Given the description of an element on the screen output the (x, y) to click on. 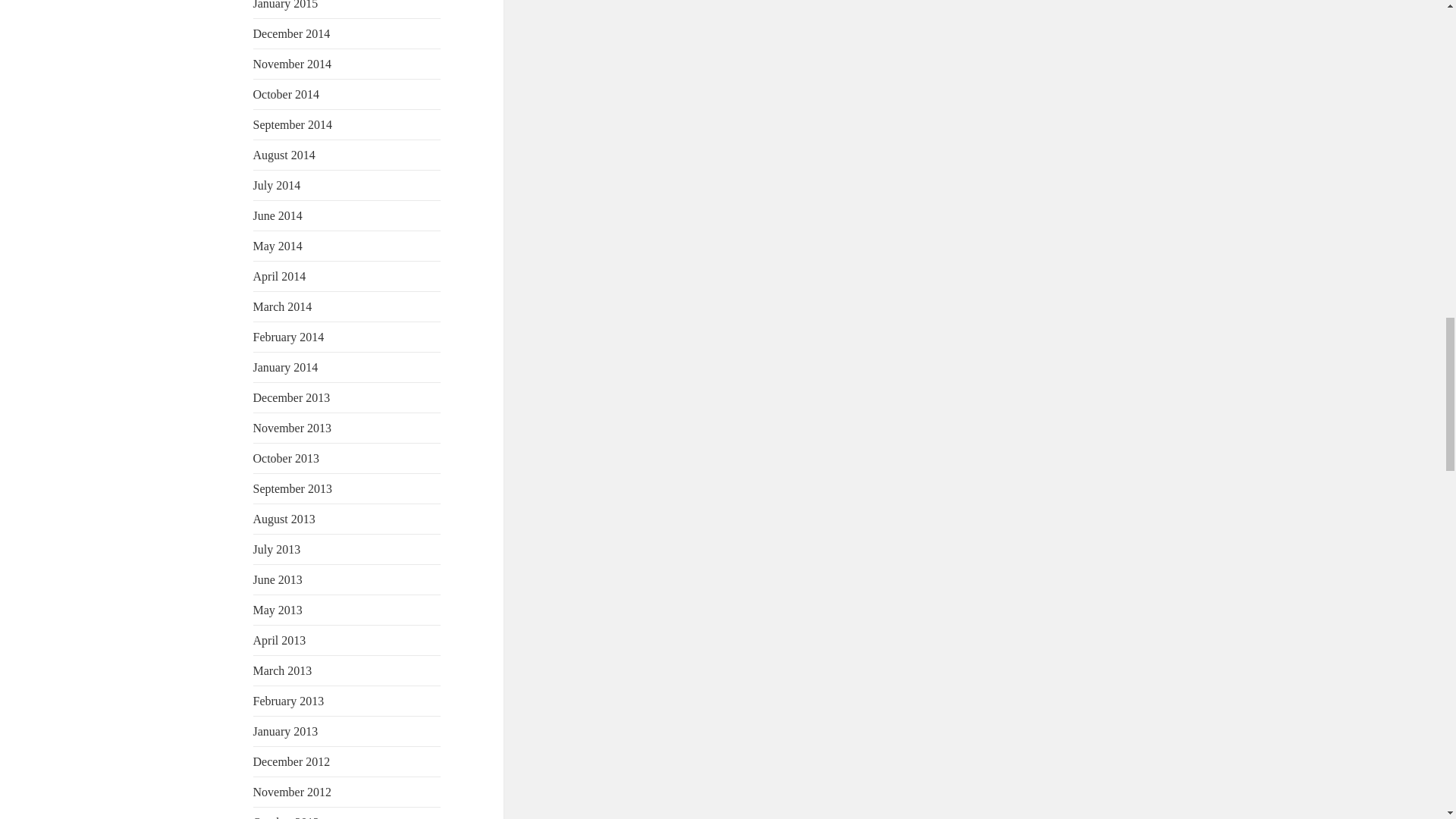
June 2014 (277, 215)
December 2014 (291, 33)
May 2014 (277, 245)
April 2014 (279, 276)
September 2014 (292, 124)
August 2014 (284, 154)
November 2014 (292, 63)
July 2014 (277, 185)
October 2014 (286, 93)
March 2014 (283, 306)
January 2015 (285, 4)
